Given the description of an element on the screen output the (x, y) to click on. 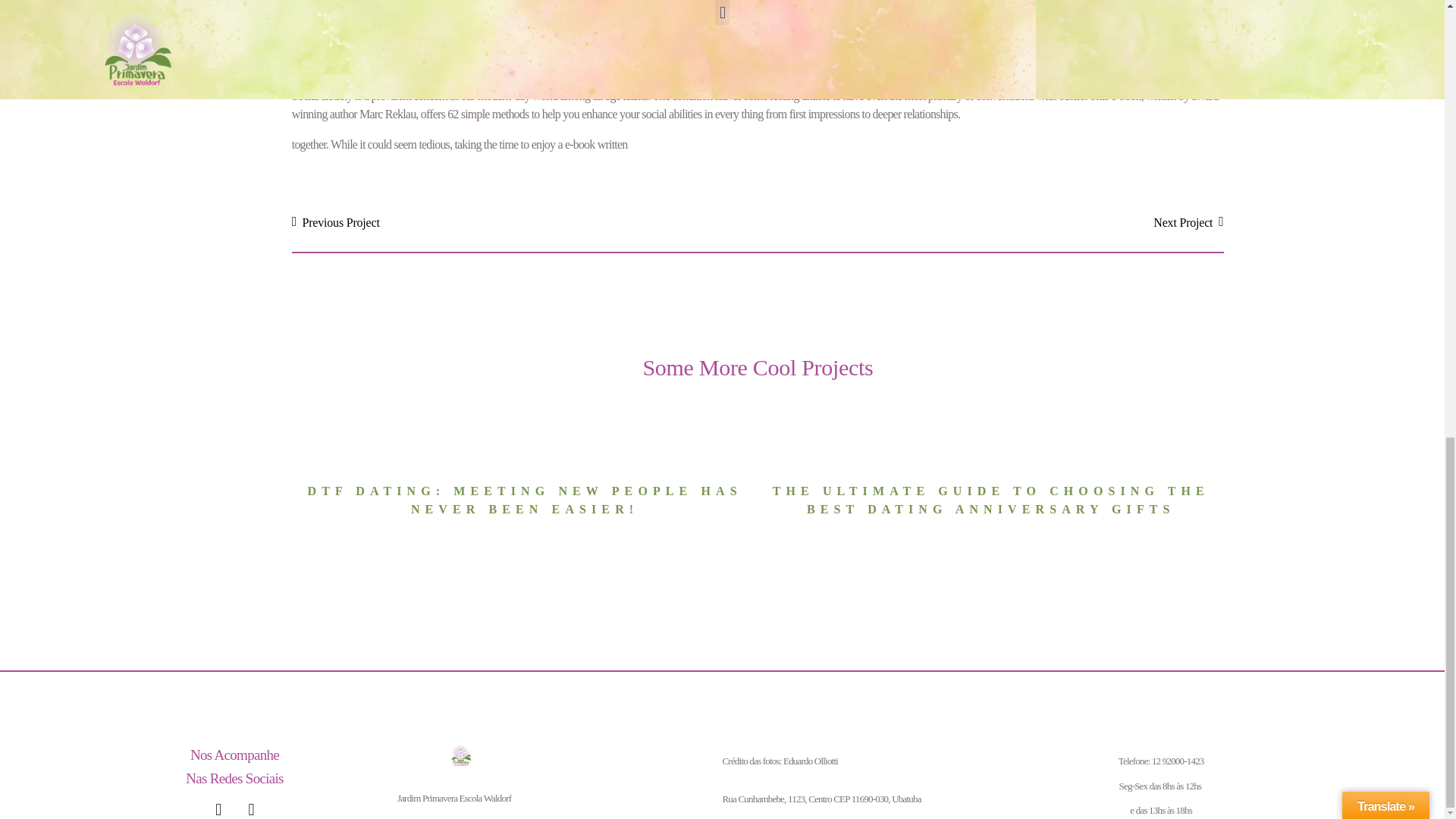
Next Project (990, 222)
Previous Project (524, 222)
DTF DATING: MEETING NEW PEOPLE HAS NEVER BEEN EASIER! (524, 499)
